Given the description of an element on the screen output the (x, y) to click on. 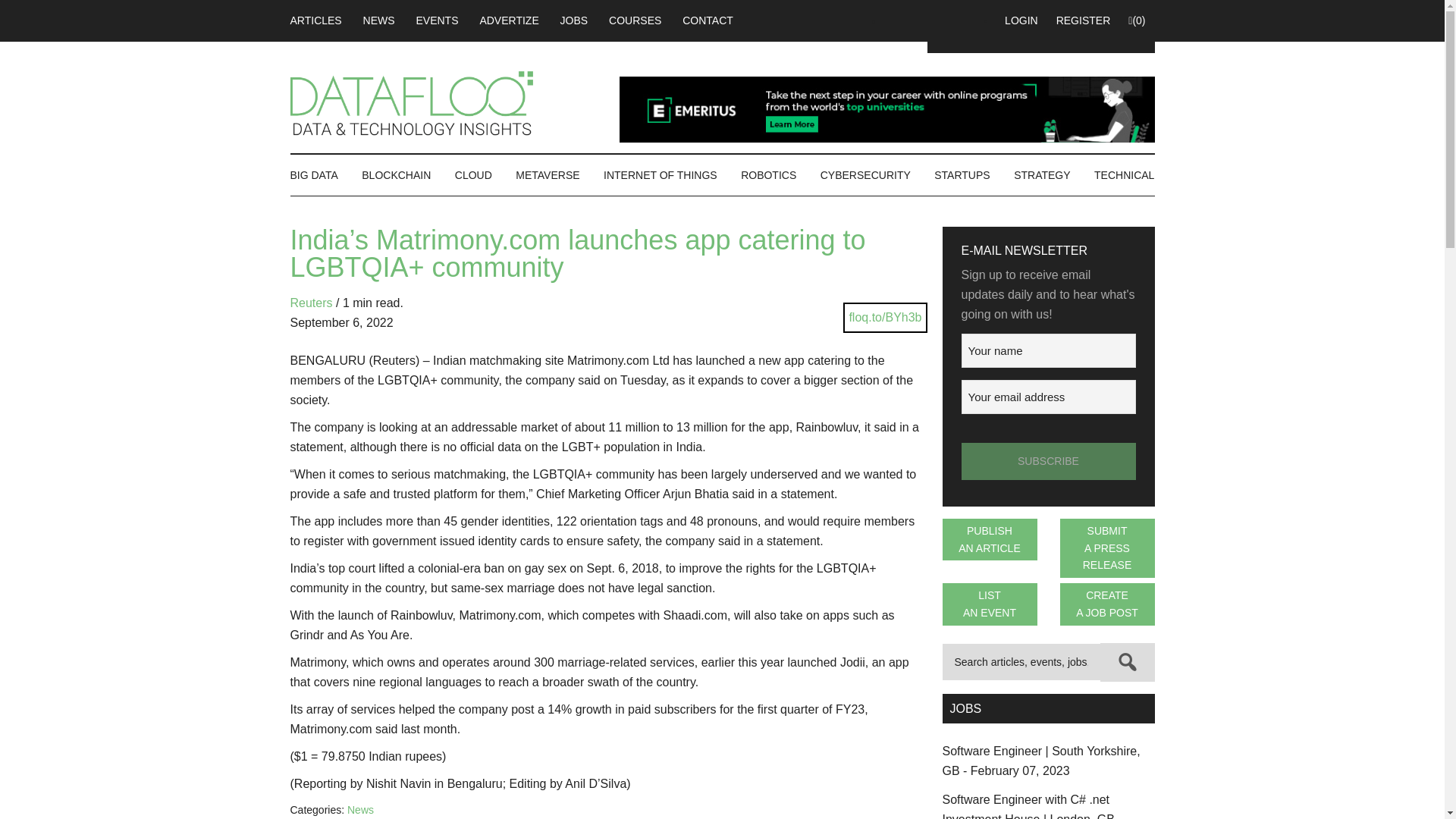
METAVERSE (547, 174)
REGISTER (1082, 20)
CLOUD (472, 174)
INTERNET OF THINGS (660, 174)
LINKEDIN (925, 19)
BLOCKCHAIN (395, 174)
Subscribe (1047, 461)
JOBS (573, 20)
ADVERTIZE (508, 20)
BIG DATA (317, 174)
